Given the description of an element on the screen output the (x, y) to click on. 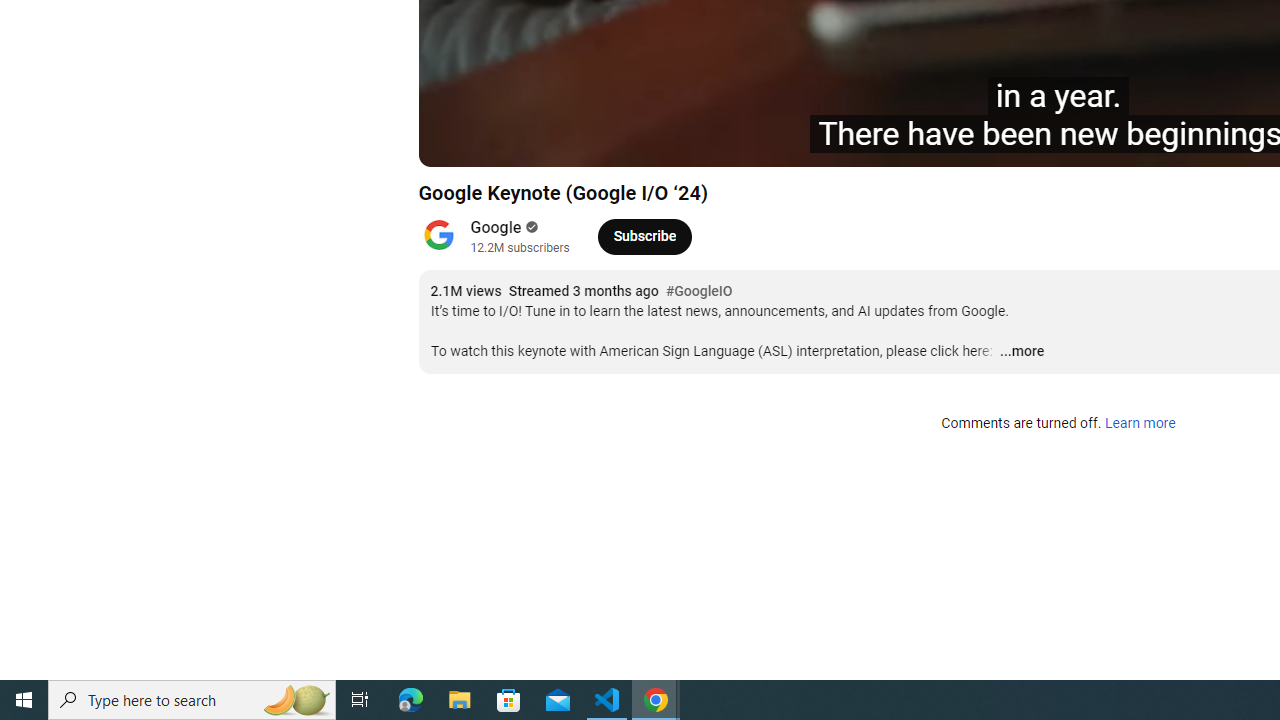
Opening Film (763, 142)
#GoogleIO (699, 291)
Next (SHIFT+n) (546, 142)
Learn more (1139, 423)
Play (k) (502, 142)
Subscribe to Google. (644, 236)
...more (1021, 352)
Previous (SHIFT+p) (456, 142)
Verified (530, 227)
Mute (m) (594, 142)
